Given the description of an element on the screen output the (x, y) to click on. 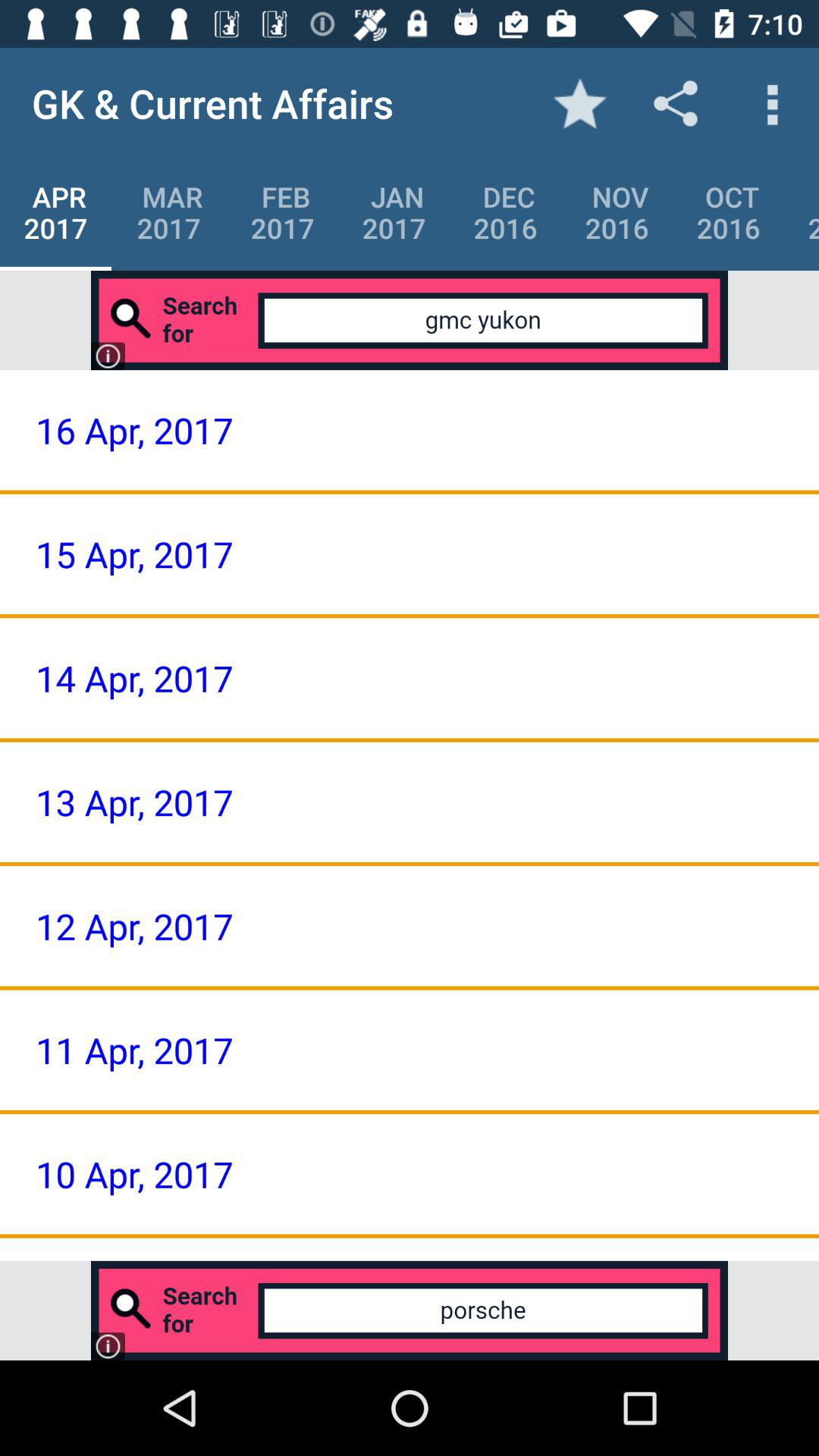
select icon to the left of  dec
2016 item (393, 212)
